Given the description of an element on the screen output the (x, y) to click on. 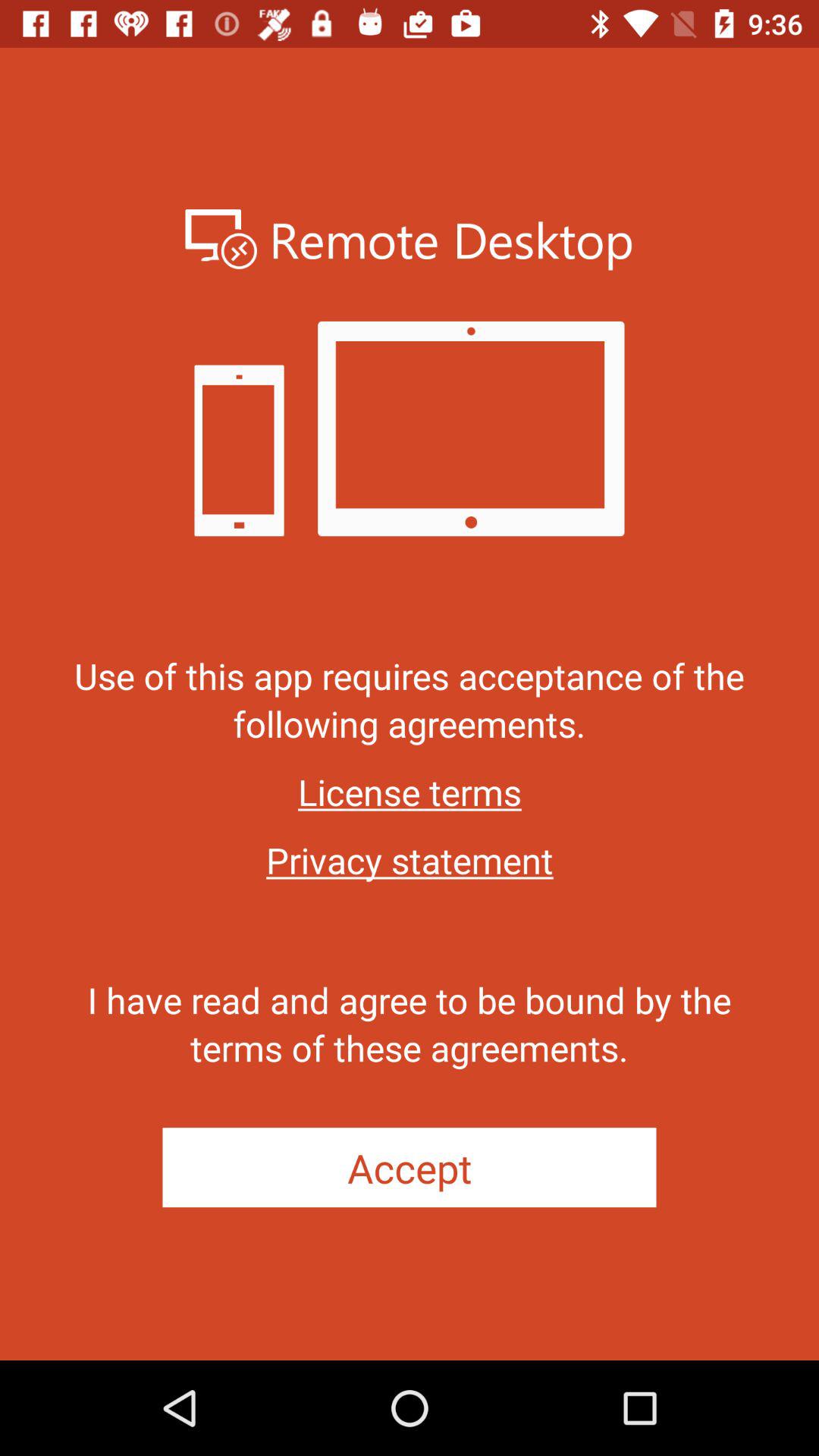
tap icon below i have read icon (409, 1167)
